Given the description of an element on the screen output the (x, y) to click on. 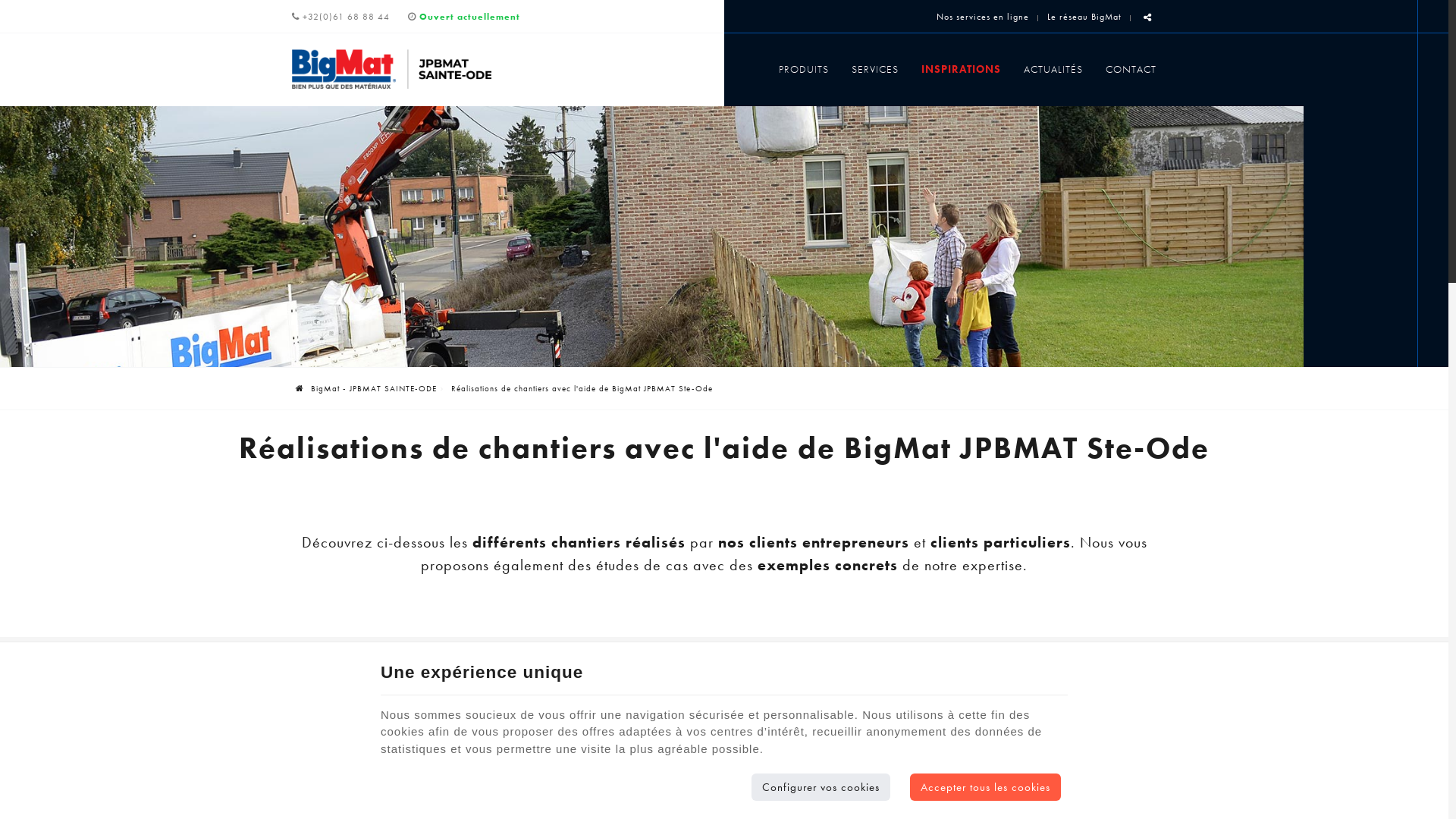
Ouvert actuellement Element type: text (463, 16)
Configurer vos cookies Element type: text (820, 786)
Demandez votre devis Element type: text (626, 745)
Contactez-nous Element type: text (848, 745)
+32(0)61 68 88 44 Element type: text (340, 16)
Accepter tous les cookies Element type: text (985, 786)
Partager ce contenu Element type: text (1147, 17)
SERVICES Element type: text (875, 68)
INSPIRATIONS Element type: text (961, 68)
PRODUITS Element type: text (803, 68)
CONTACT Element type: text (1125, 68)
Nos services en ligne Element type: text (982, 16)
BigMat - JPBMAT SAINTE-ODE Element type: text (365, 387)
BigMat - JPBMAT SAINTE-ODE Element type: hover (391, 68)
